Given the description of an element on the screen output the (x, y) to click on. 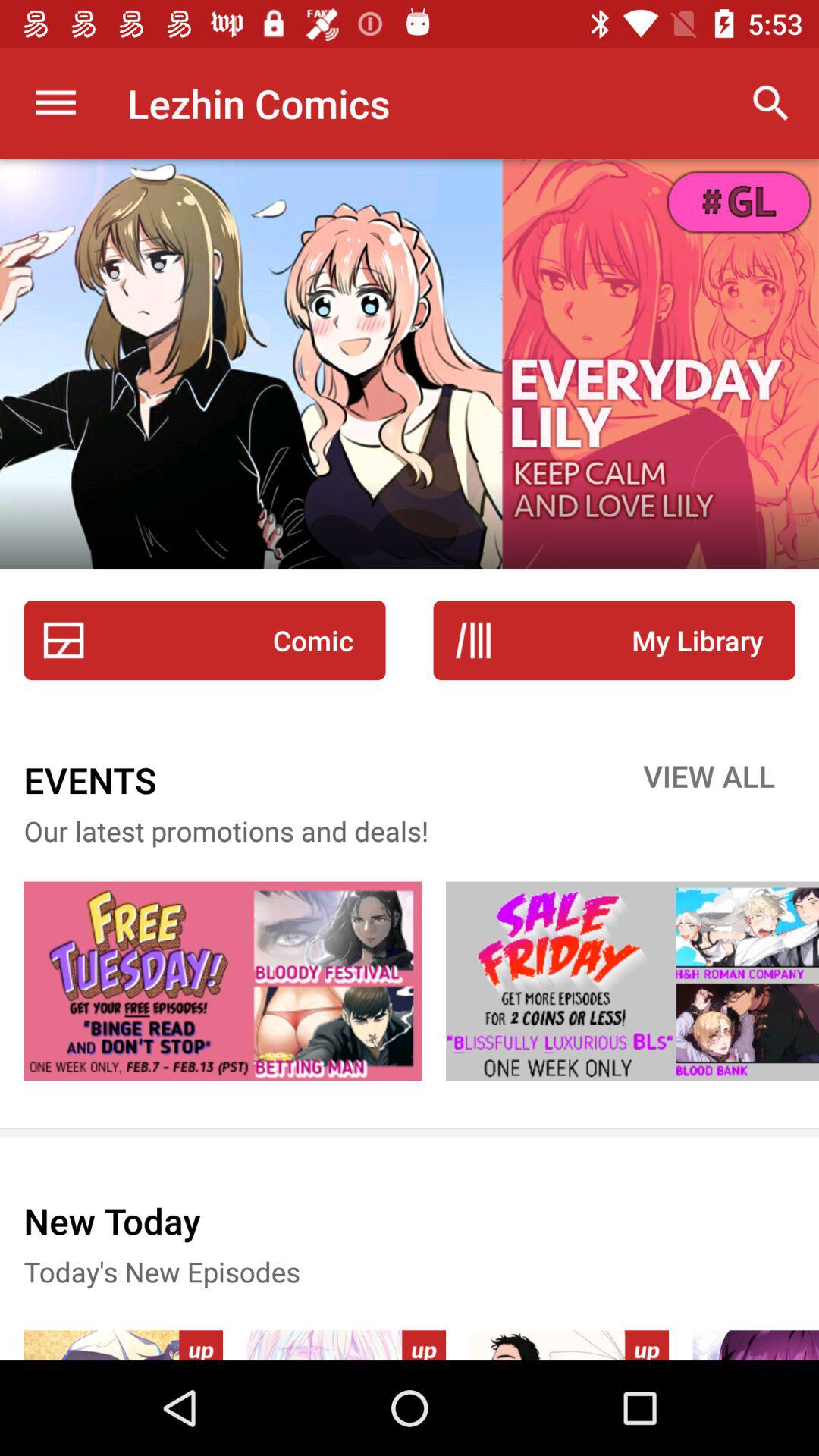
select item at the top right corner (771, 103)
